Given the description of an element on the screen output the (x, y) to click on. 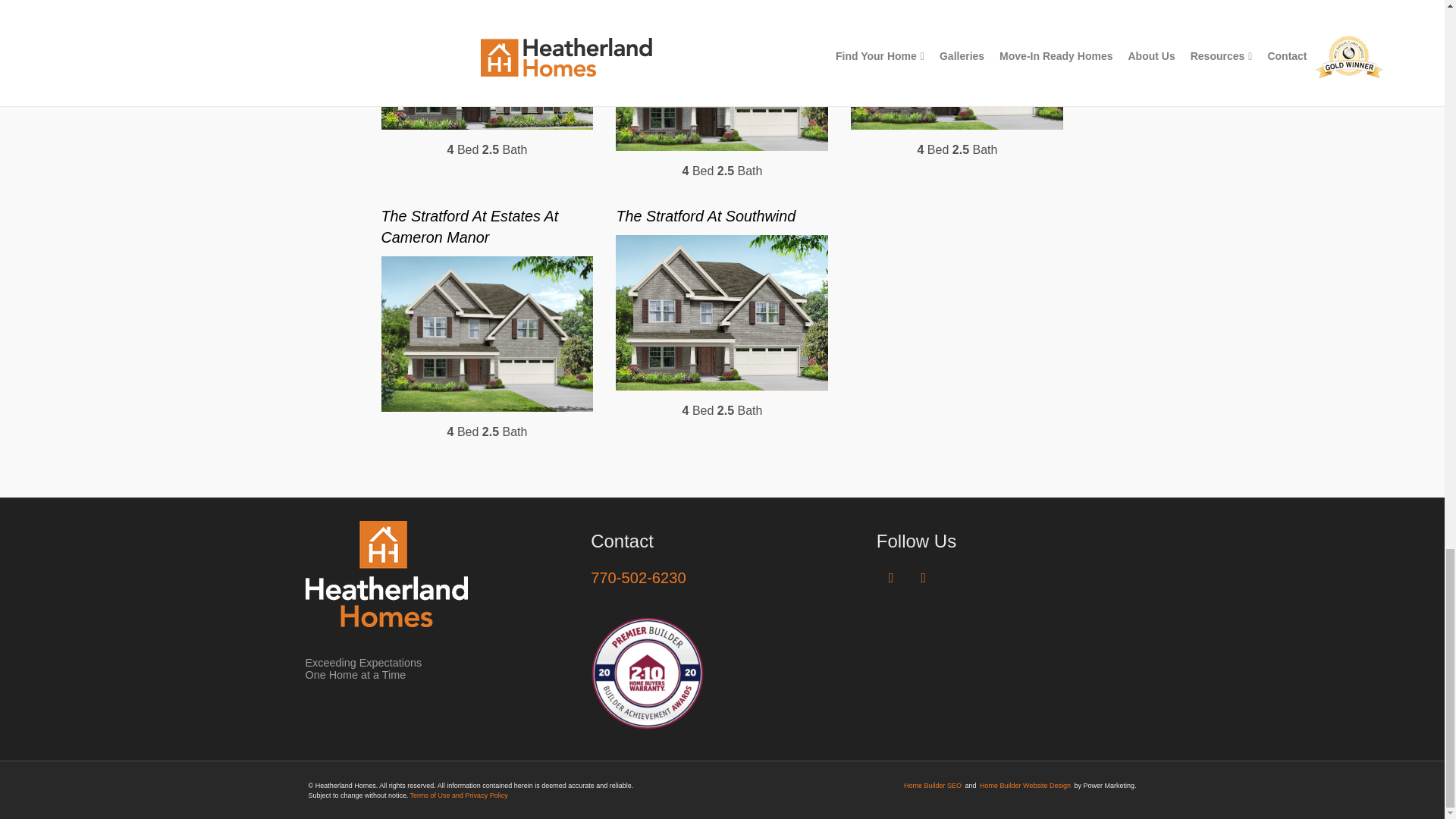
Terms of Use and Privacy Policy (459, 795)
Home Builder SEO (932, 785)
The Stratford At Southwind (704, 216)
770-502-6230 (638, 577)
Home Builder Website Design (1024, 785)
The Stratford At Estates At Cameron Manor (468, 226)
